Given the description of an element on the screen output the (x, y) to click on. 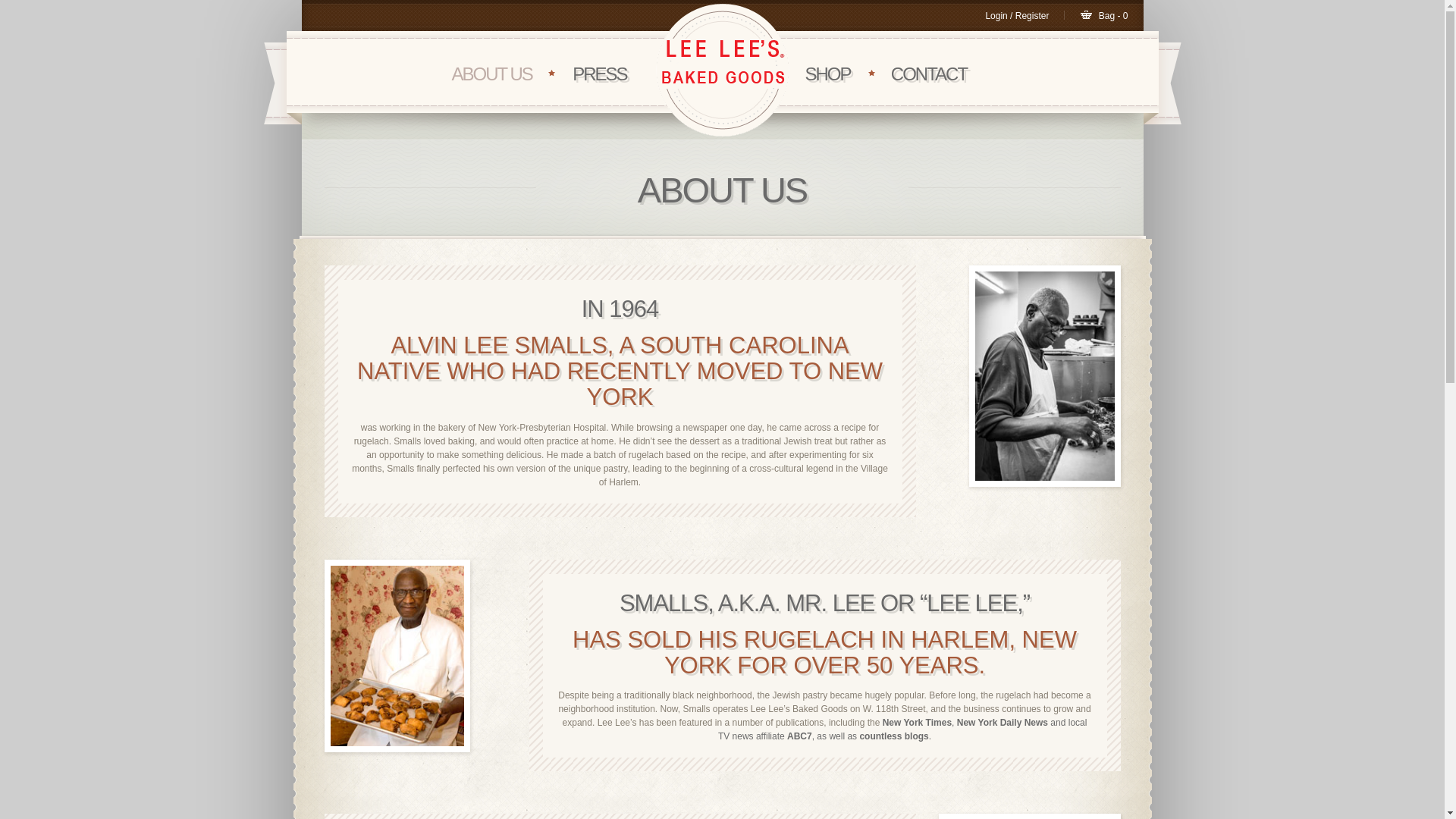
ABOUT US (491, 74)
PRESS (599, 74)
SHOP (827, 74)
CONTACT (928, 74)
